Given the description of an element on the screen output the (x, y) to click on. 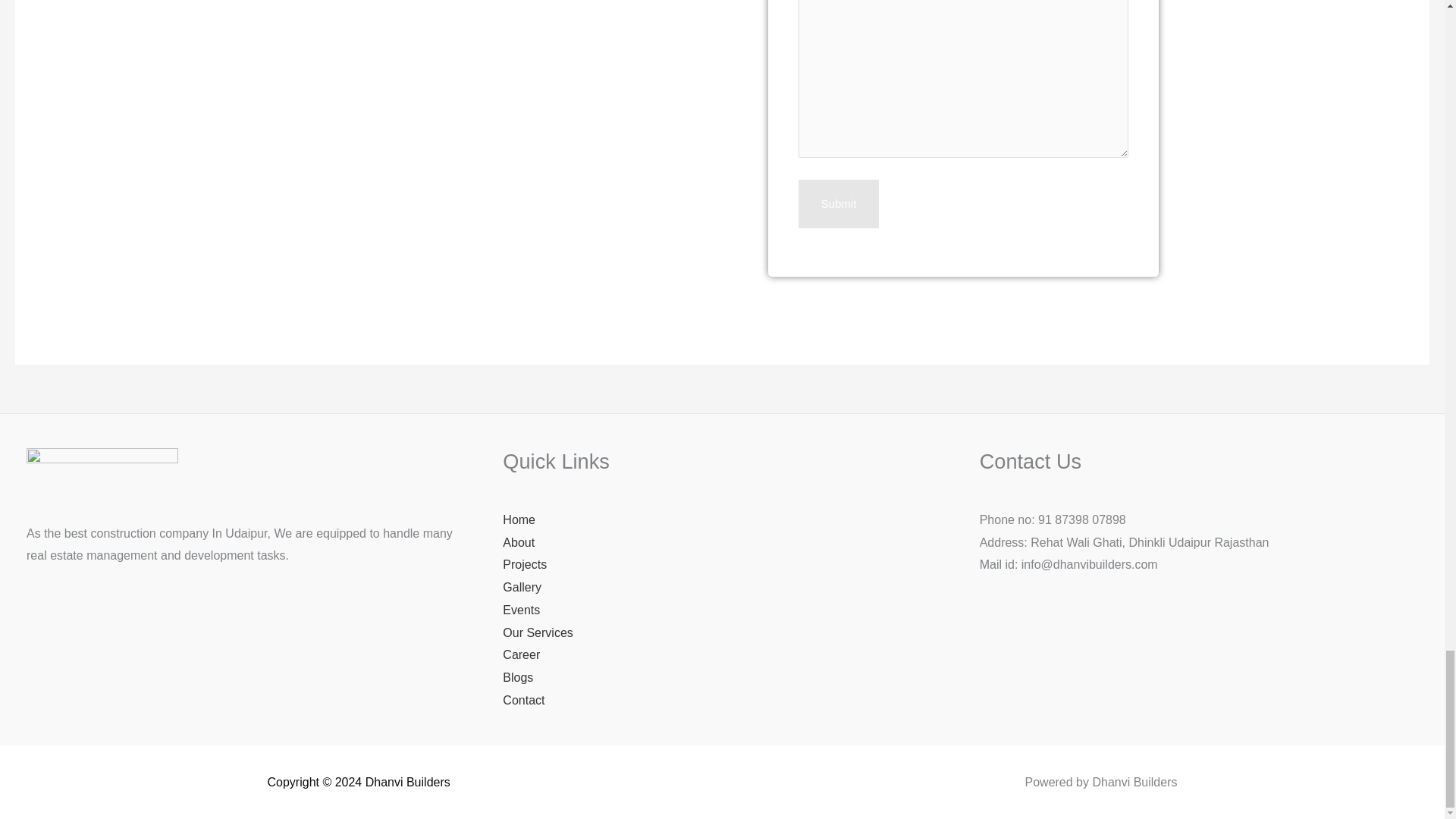
Submit (838, 203)
